Given the description of an element on the screen output the (x, y) to click on. 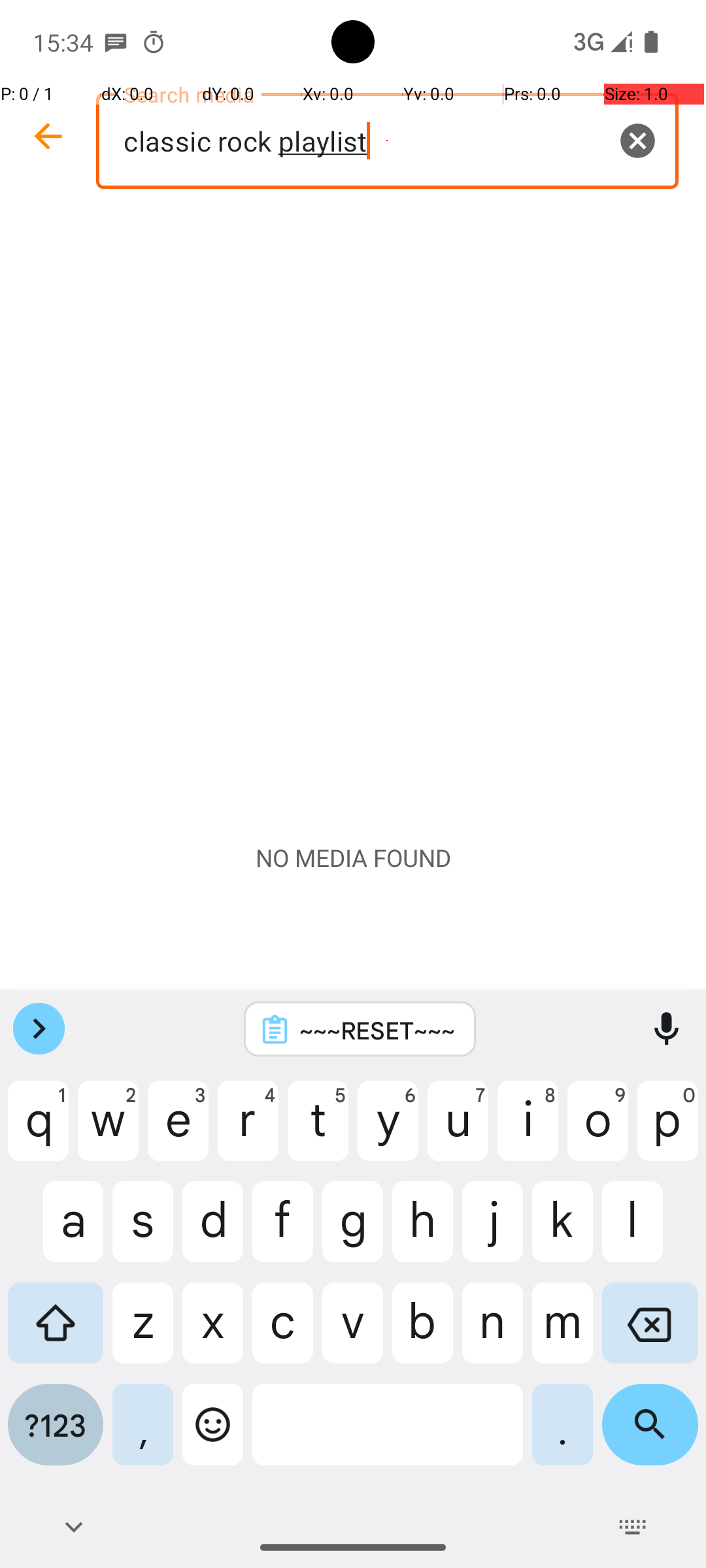
classic rock playlist Element type: android.widget.EditText (387, 140)
NO MEDIA FOUND Element type: android.widget.TextView (353, 857)
